Given the description of an element on the screen output the (x, y) to click on. 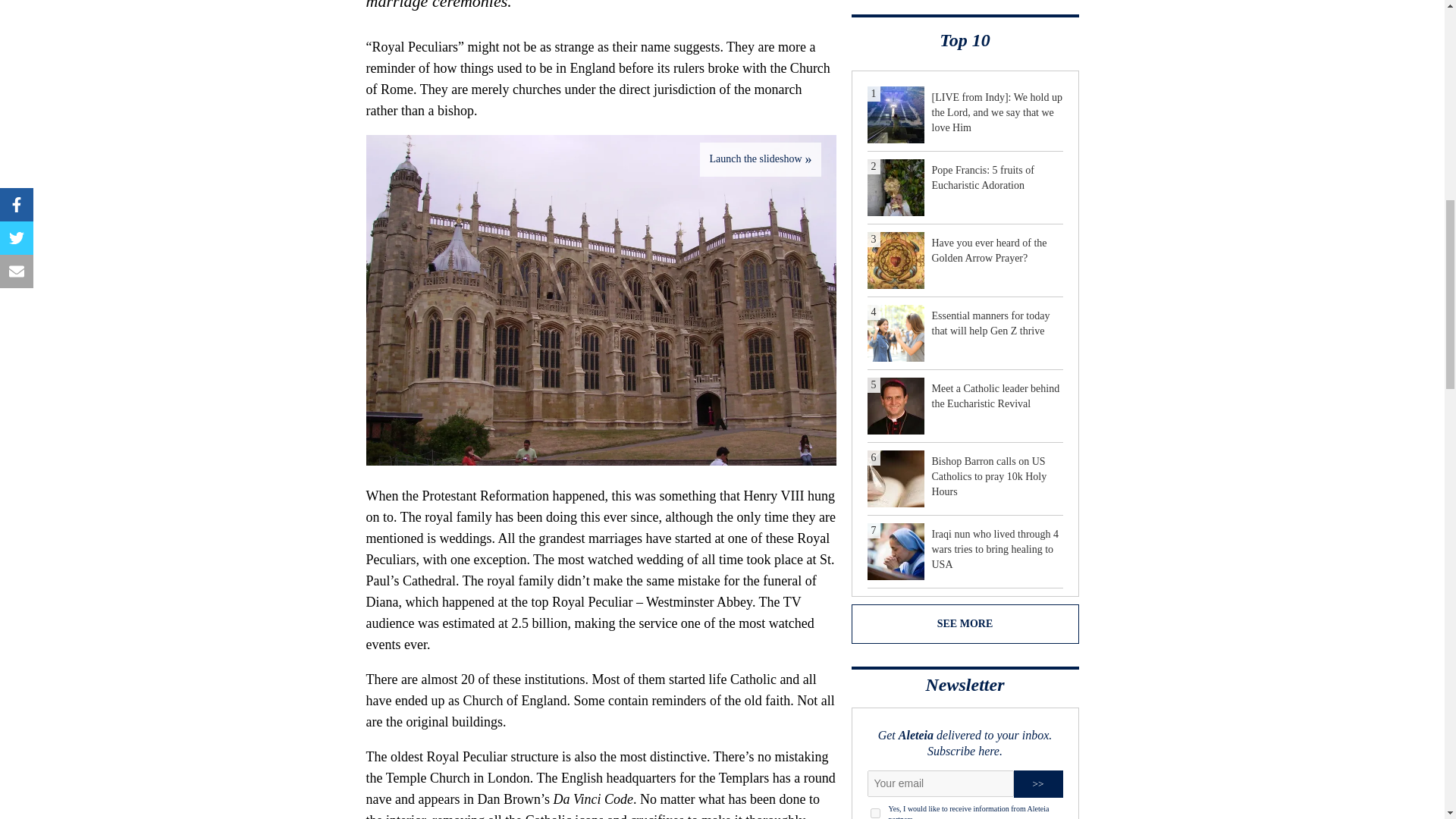
1 (875, 813)
Launch the slideshow (760, 159)
